Given the description of an element on the screen output the (x, y) to click on. 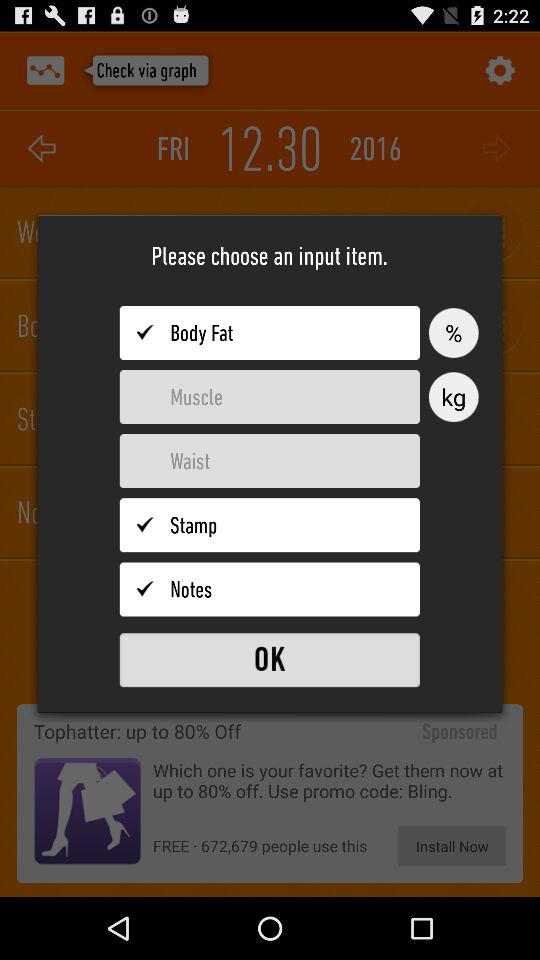
select waist (269, 461)
